Given the description of an element on the screen output the (x, y) to click on. 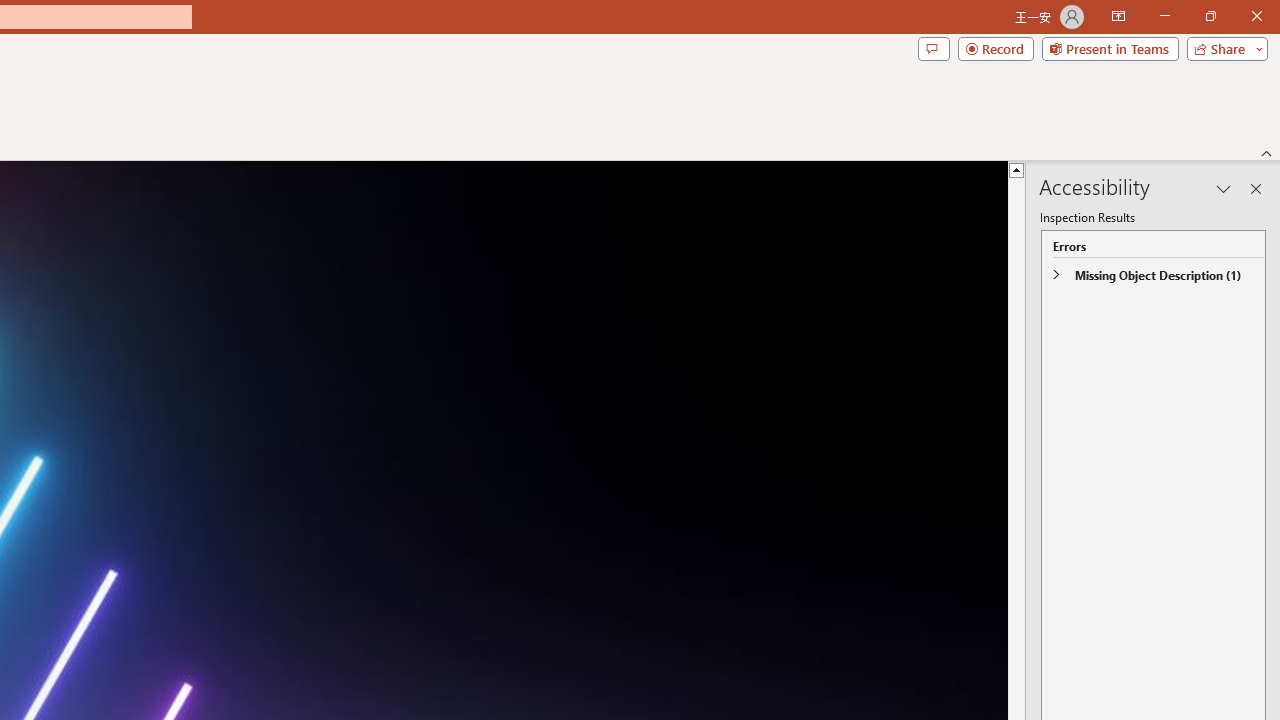
Present in Teams (1109, 48)
Comments (933, 48)
Close pane (1256, 188)
Record (995, 48)
Share (1223, 48)
Restore Down (1210, 16)
Minimize (1164, 16)
Collapse the Ribbon (1267, 152)
Close (1256, 16)
Ribbon Display Options (1118, 16)
Task Pane Options (1224, 188)
